Given the description of an element on the screen output the (x, y) to click on. 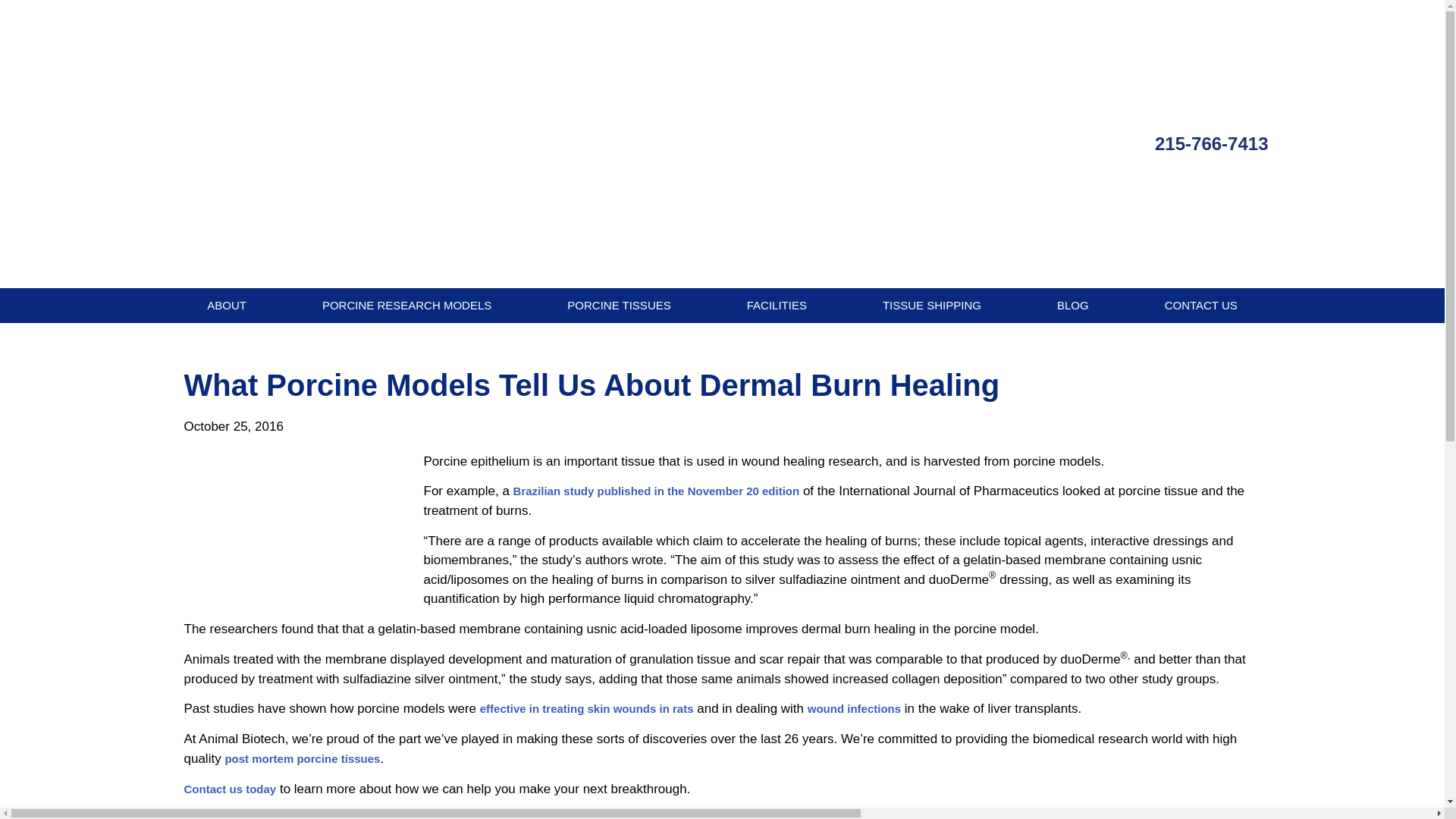
TISSUE SHIPPING (932, 305)
PORCINE RESEARCH MODELS (406, 305)
ABOUT (226, 305)
Brazilian study published in the November 20 edition (656, 490)
Contact us today (229, 788)
effective in treating skin wounds in rats (587, 707)
CONTACT US (1201, 305)
PORCINE TISSUES (618, 305)
wound infections (854, 707)
BLOG (1072, 305)
